Given the description of an element on the screen output the (x, y) to click on. 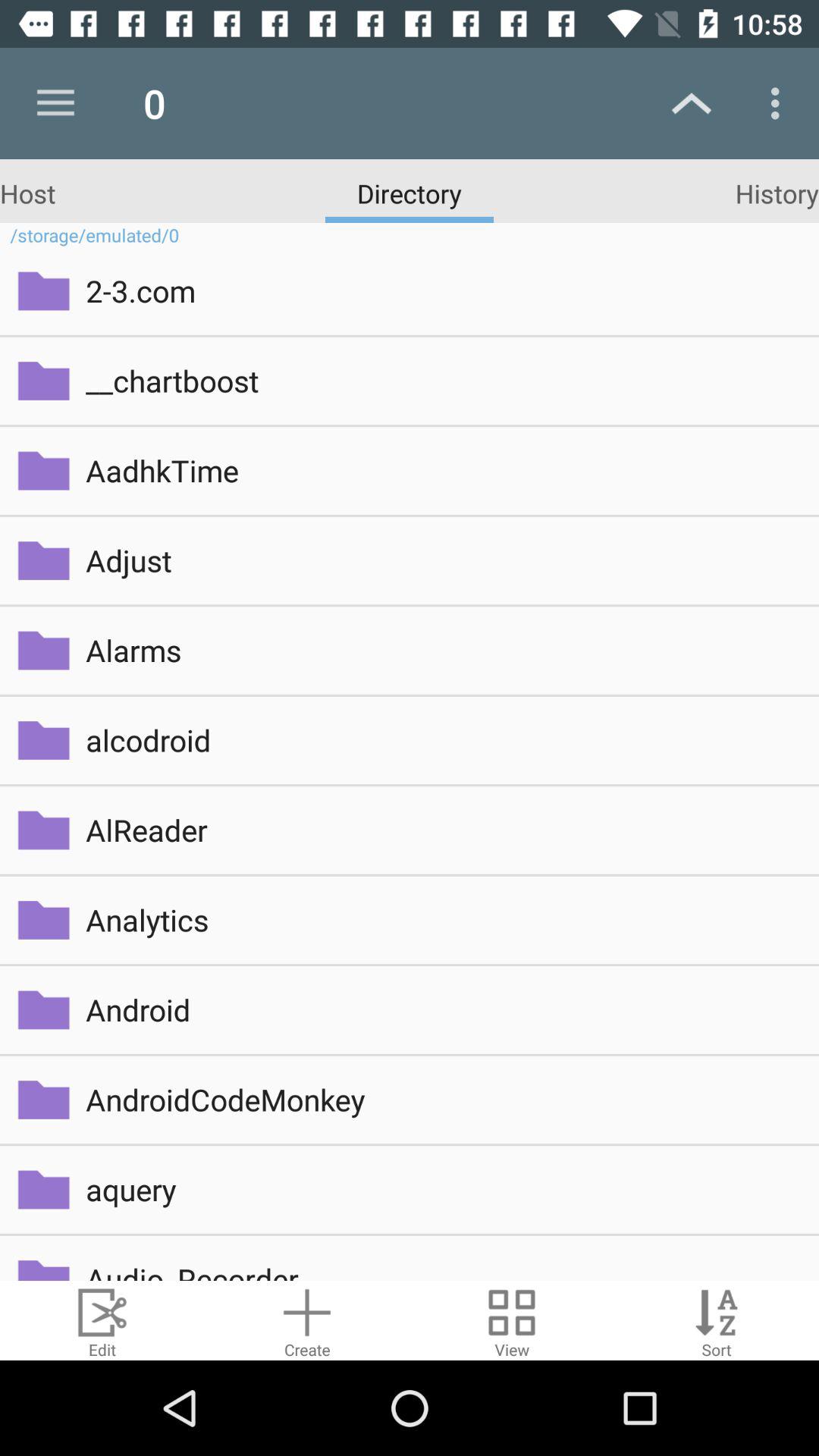
scroll until analytics (441, 919)
